Given the description of an element on the screen output the (x, y) to click on. 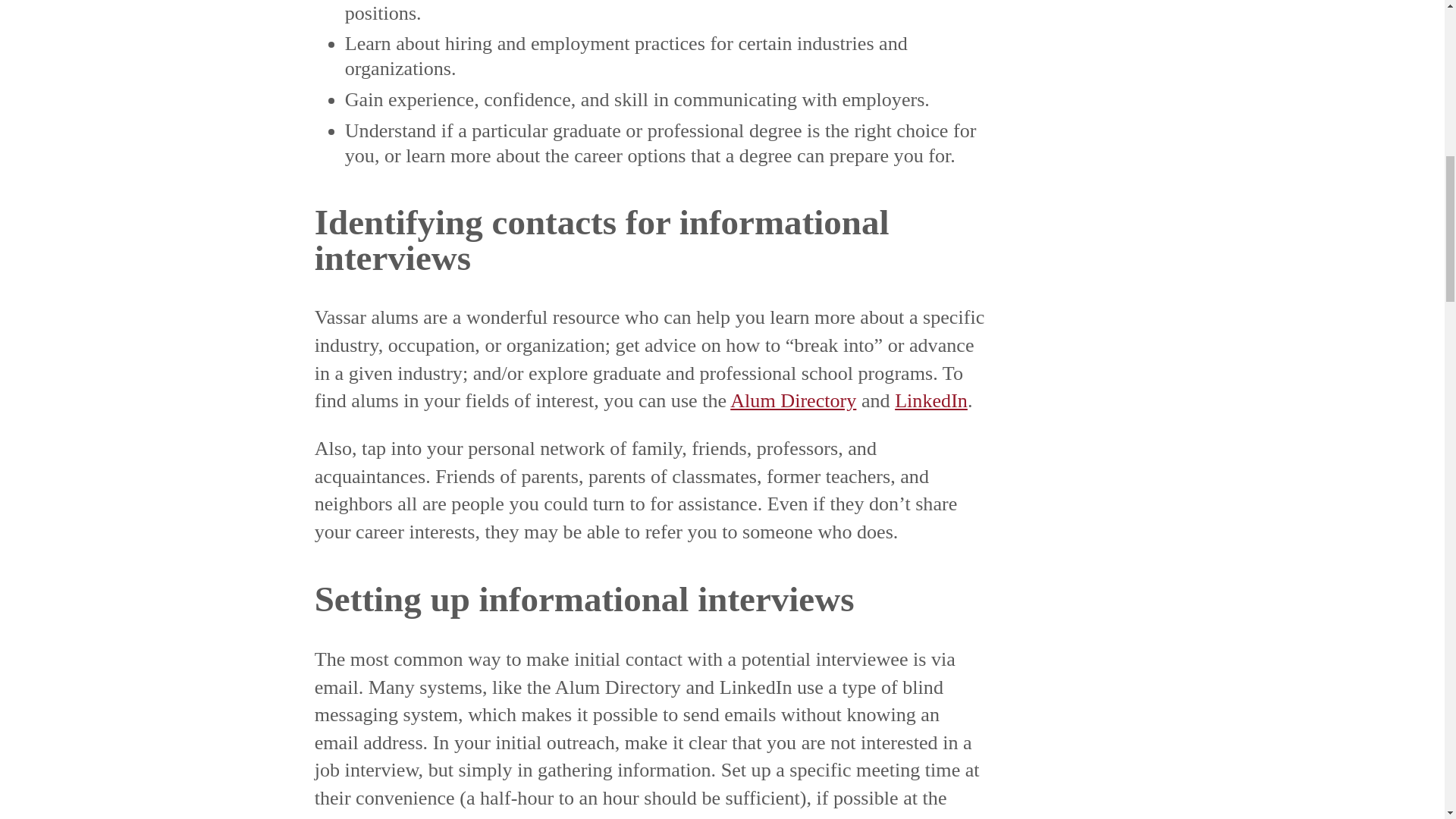
Alum Directory (793, 400)
LinkedIn (931, 400)
